Given the description of an element on the screen output the (x, y) to click on. 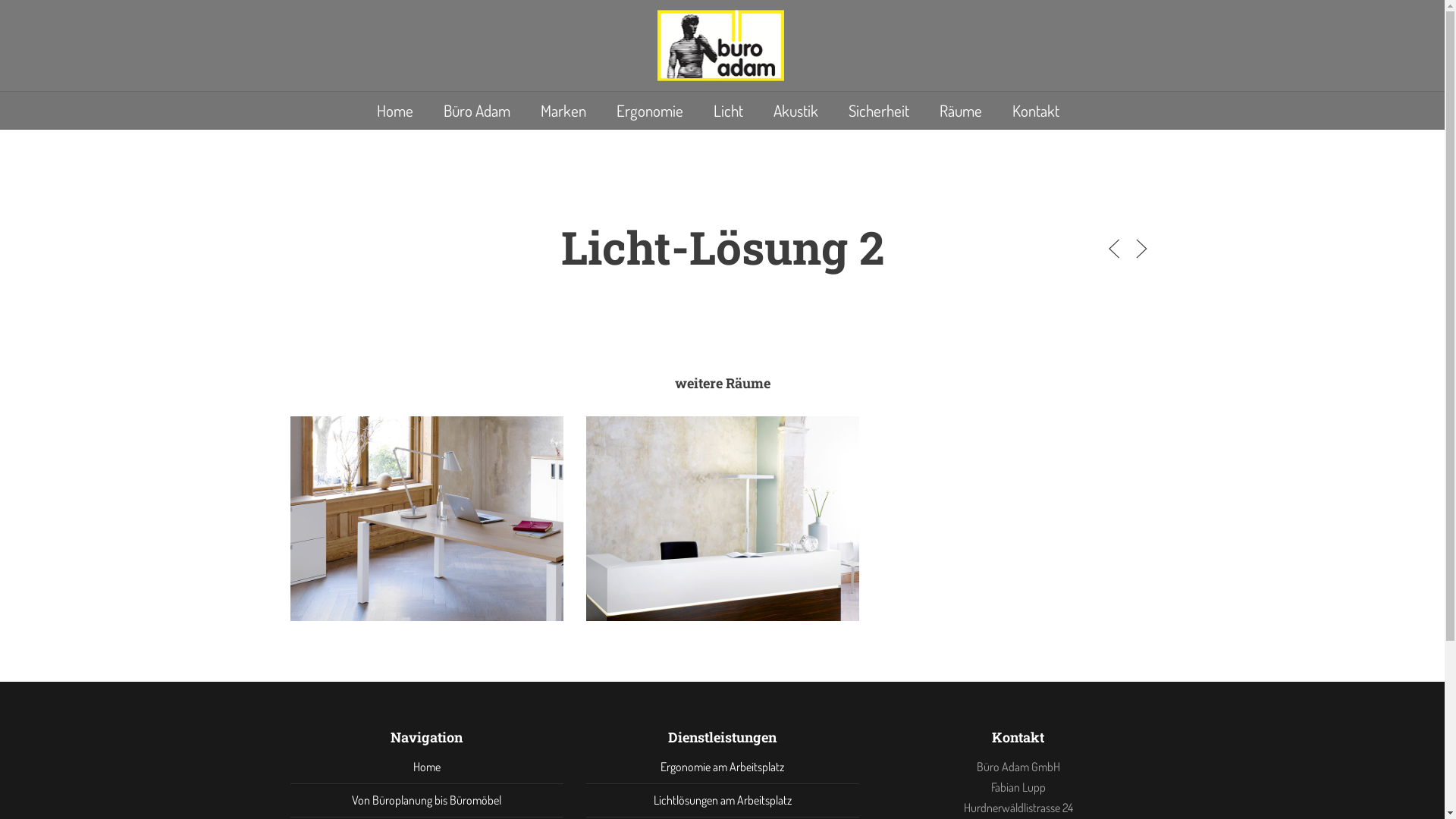
Home Element type: text (425, 765)
Ergonomie Element type: text (648, 109)
Ergonomie am Arbeitsplatz Element type: text (722, 765)
Home Element type: text (393, 109)
Akustik Element type: text (795, 109)
Kontakt Element type: text (1034, 109)
Marken Element type: text (562, 109)
Sicherheit Element type: text (877, 109)
Licht Element type: text (727, 109)
